Given the description of an element on the screen output the (x, y) to click on. 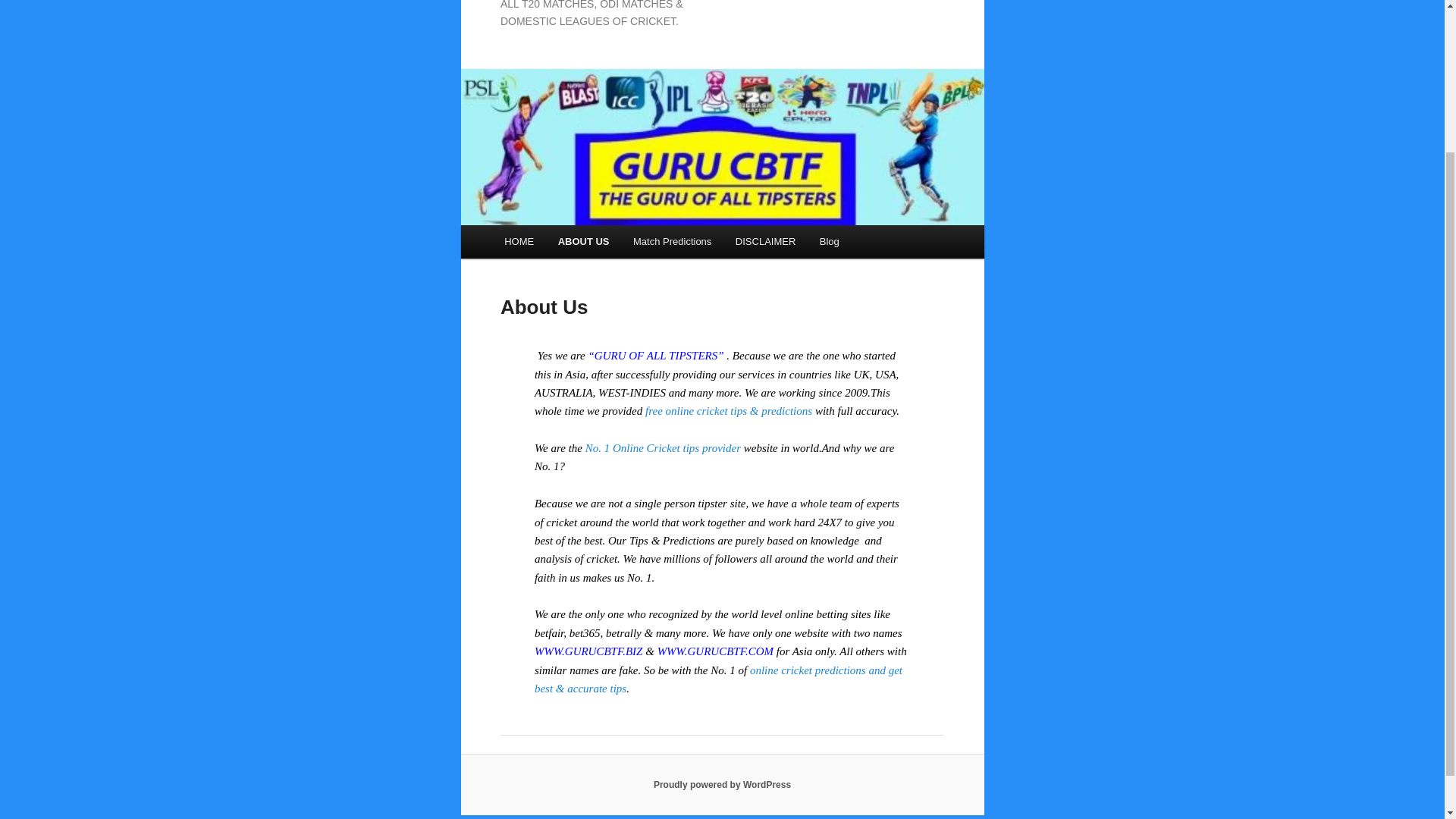
ABOUT US (583, 241)
HOME (519, 241)
No. 1 Online Cricket tips provider (663, 448)
Proudly powered by WordPress (721, 784)
DISCLAIMER (765, 241)
Semantic Personal Publishing Platform (721, 784)
Blog (829, 241)
WWW.GURUCBTF.COM (715, 651)
WWW.GURUCBTF.BIZ (588, 651)
Match Predictions (672, 241)
